Given the description of an element on the screen output the (x, y) to click on. 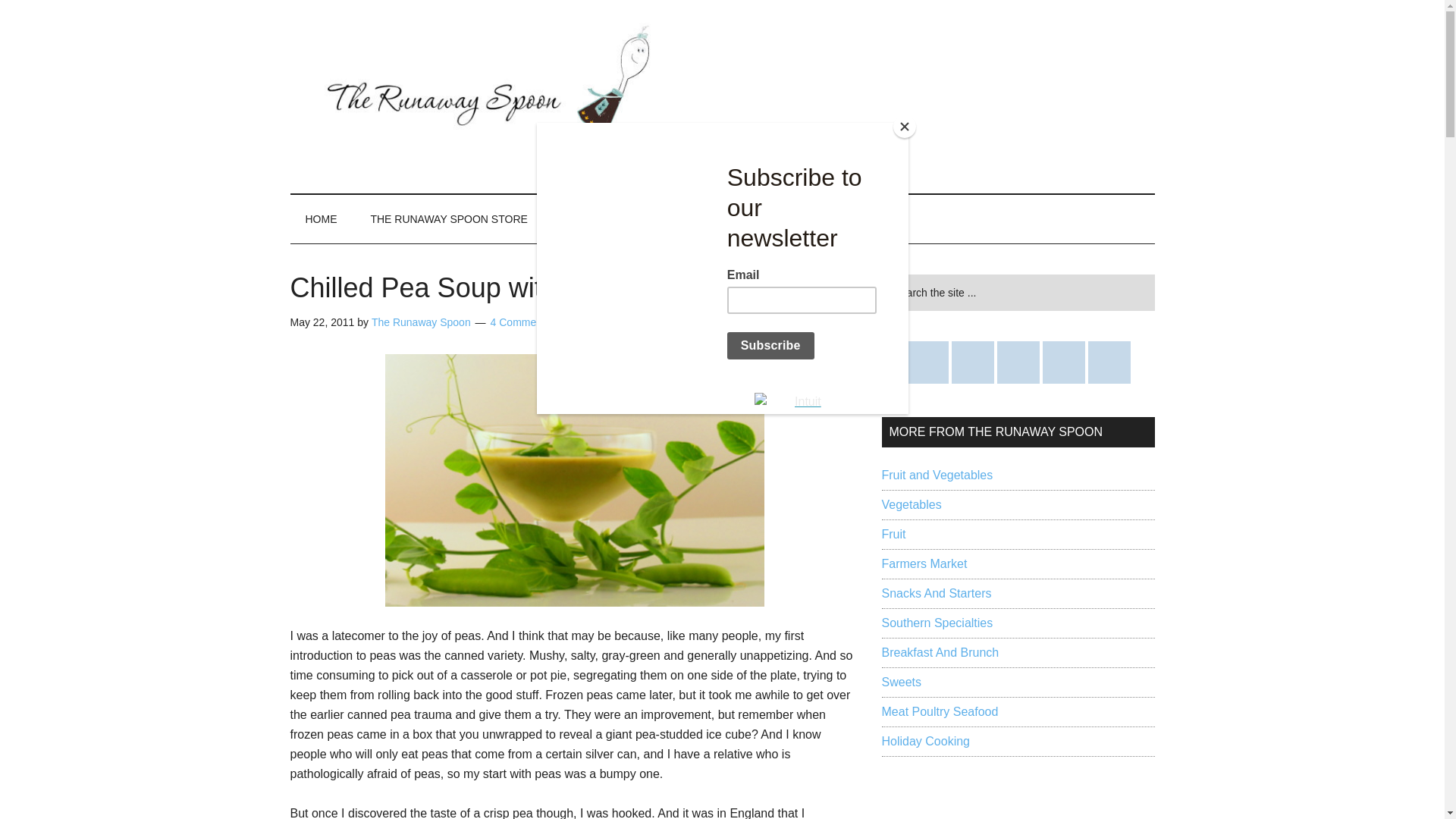
4 Comments (520, 322)
THE RUNAWAY SPOON STORE (448, 218)
The Runaway Spoon (420, 322)
CONTACT US (595, 218)
HOME (320, 218)
